Given the description of an element on the screen output the (x, y) to click on. 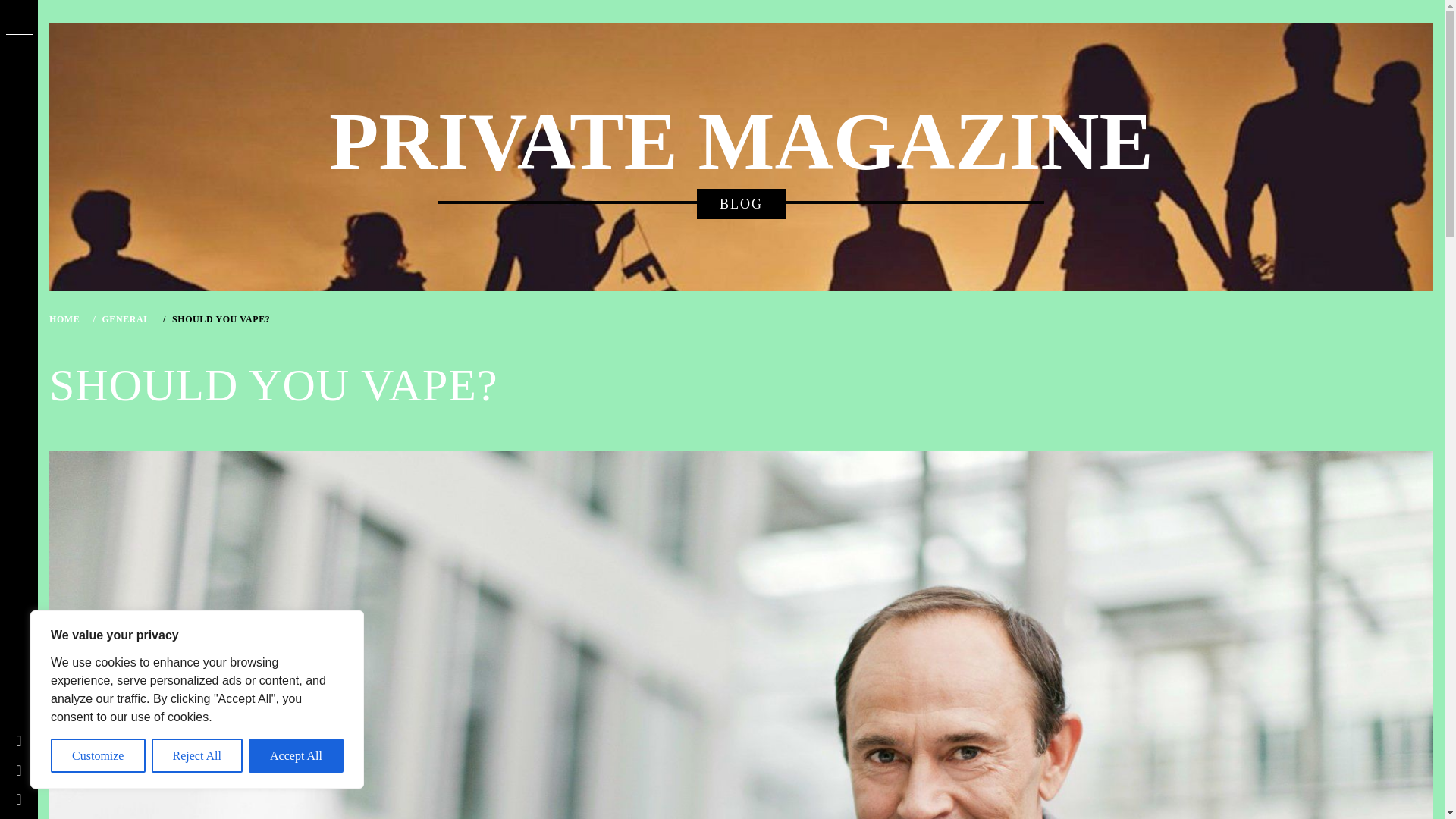
Reject All (197, 755)
GENERAL (124, 318)
HOME (66, 318)
PRIVATE MAGAZINE (741, 141)
SHOULD YOU VAPE? (219, 318)
Accept All (295, 755)
Customize (97, 755)
